Given the description of an element on the screen output the (x, y) to click on. 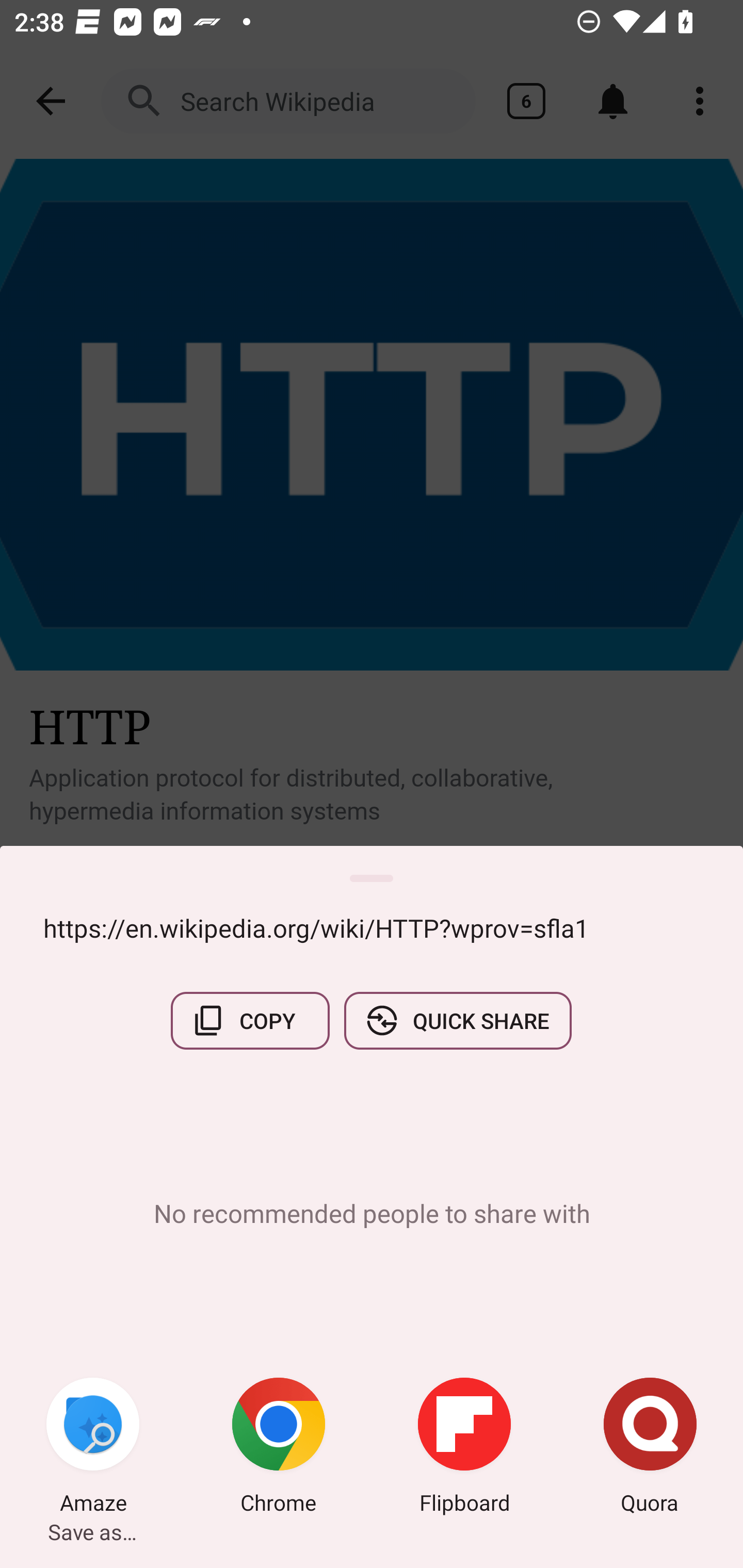
COPY (249, 1020)
QUICK SHARE (457, 1020)
Amaze Save as… (92, 1448)
Chrome (278, 1448)
Flipboard (464, 1448)
Quora (650, 1448)
